Given the description of an element on the screen output the (x, y) to click on. 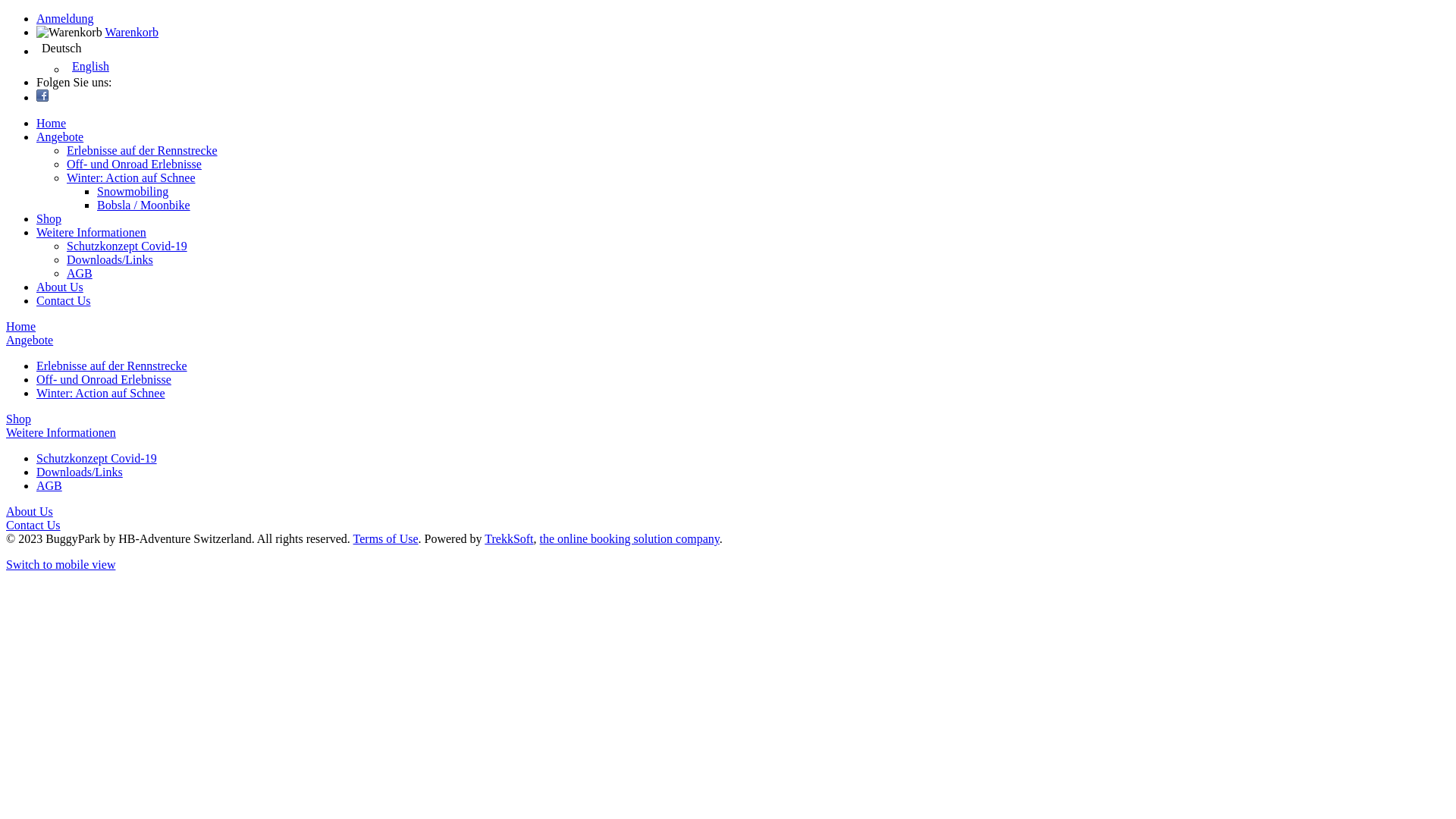
Angebote Element type: text (29, 339)
Shop Element type: text (18, 418)
Weitere Informationen Element type: text (61, 432)
Snowmobiling Element type: text (132, 191)
Winter: Action auf Schnee Element type: text (100, 392)
Weitere Informationen Element type: text (91, 231)
Anmeldung Element type: text (65, 18)
AGB Element type: text (49, 485)
Switch to mobile view Element type: text (60, 564)
TrekkSoft Element type: text (508, 538)
About Us Element type: text (59, 286)
Off- und Onroad Erlebnisse Element type: text (103, 379)
Folgen Sie uns auf Facebook Element type: hover (42, 95)
AGB Element type: text (79, 272)
About Us Element type: text (29, 511)
Schutzkonzept Covid-19 Element type: text (96, 457)
Erlebnisse auf der Rennstrecke Element type: text (111, 365)
Warenkorb Element type: text (131, 31)
Home Element type: text (20, 326)
Off- und Onroad Erlebnisse Element type: text (133, 163)
Home Element type: text (50, 122)
Contact Us Element type: text (33, 524)
Erlebnisse auf der Rennstrecke Element type: text (141, 150)
English Element type: text (757, 66)
Winter: Action auf Schnee Element type: text (130, 177)
Contact Us Element type: text (63, 300)
Downloads/Links Element type: text (109, 259)
Terms of Use Element type: text (385, 538)
Schutzkonzept Covid-19 Element type: text (126, 245)
Angebote Element type: text (59, 136)
Shop Element type: text (48, 218)
Bobsla / Moonbike Element type: text (143, 204)
Downloads/Links Element type: text (79, 471)
the online booking solution company Element type: text (629, 538)
